Given the description of an element on the screen output the (x, y) to click on. 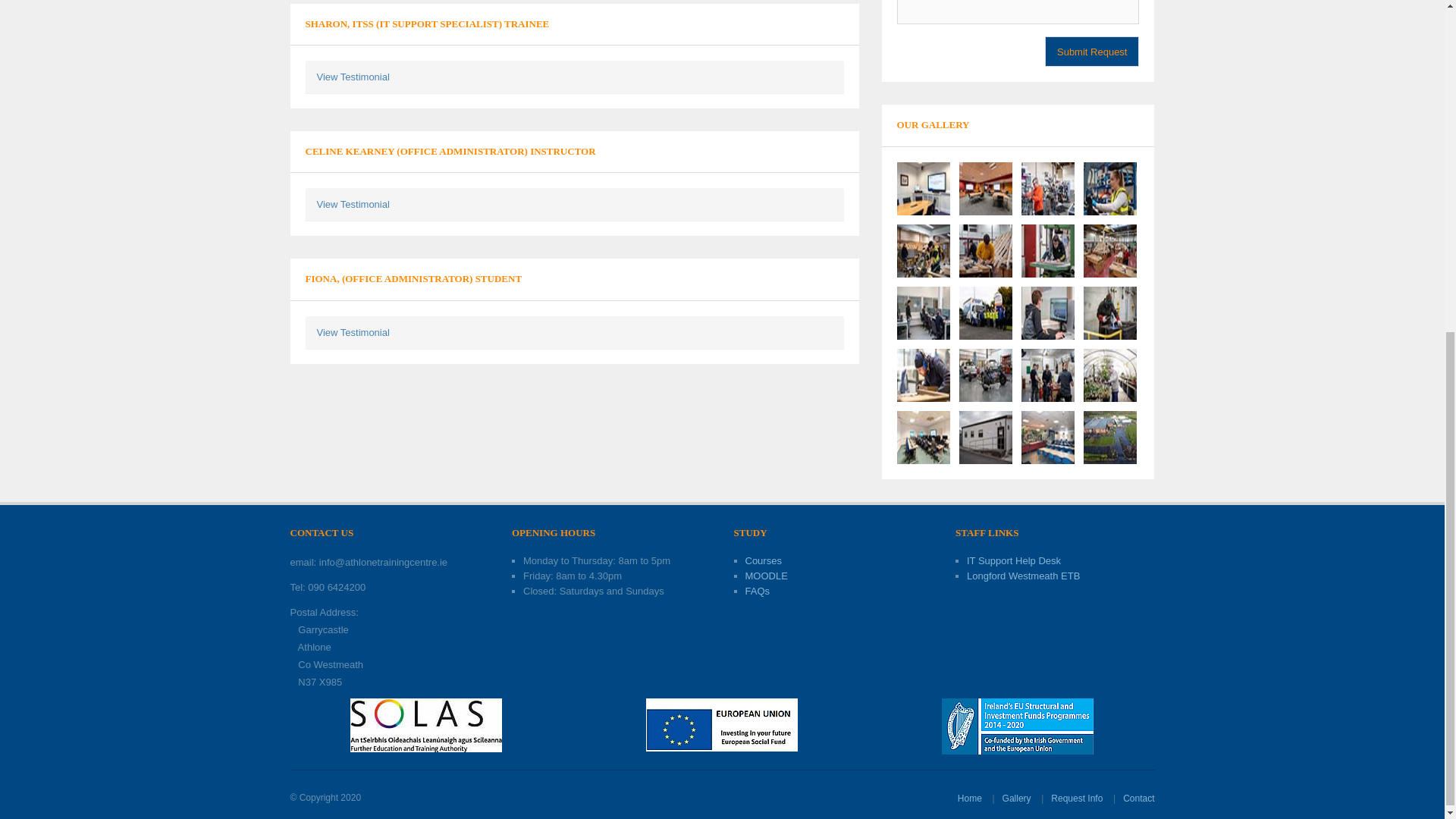
Athlone Training Centre (922, 311)
Athlone Training Centre (984, 311)
Athlone Training Centre (1109, 187)
Athlone Training Centre (1047, 249)
Submit Request (1092, 51)
Athlone Training Centre (1047, 374)
Athlone Training Centre (1047, 187)
Athlone Training Centre (922, 374)
Athlone Training Centre (984, 187)
Athlone Training Centre (984, 374)
Athlone Training Centre (922, 249)
Athlone Training Centre (1109, 311)
Athlone Training Centre (1047, 311)
Athlone Training Centre (984, 249)
Athlone Training Centre (922, 187)
